Given the description of an element on the screen output the (x, y) to click on. 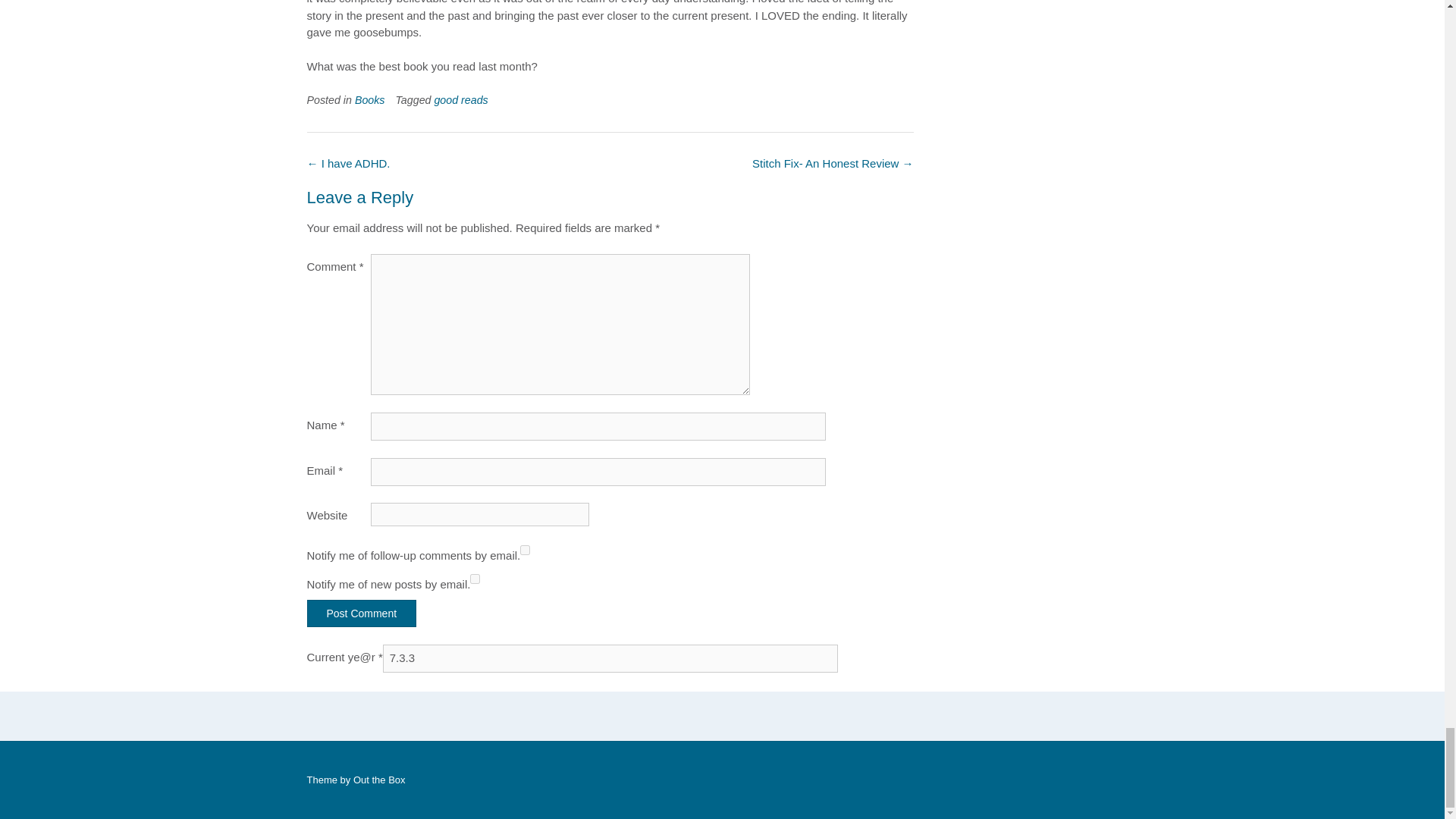
Post Comment (360, 613)
Post Comment (360, 613)
subscribe (524, 550)
Books (370, 100)
subscribe (475, 578)
good reads (460, 100)
7.3.3 (610, 658)
